Given the description of an element on the screen output the (x, y) to click on. 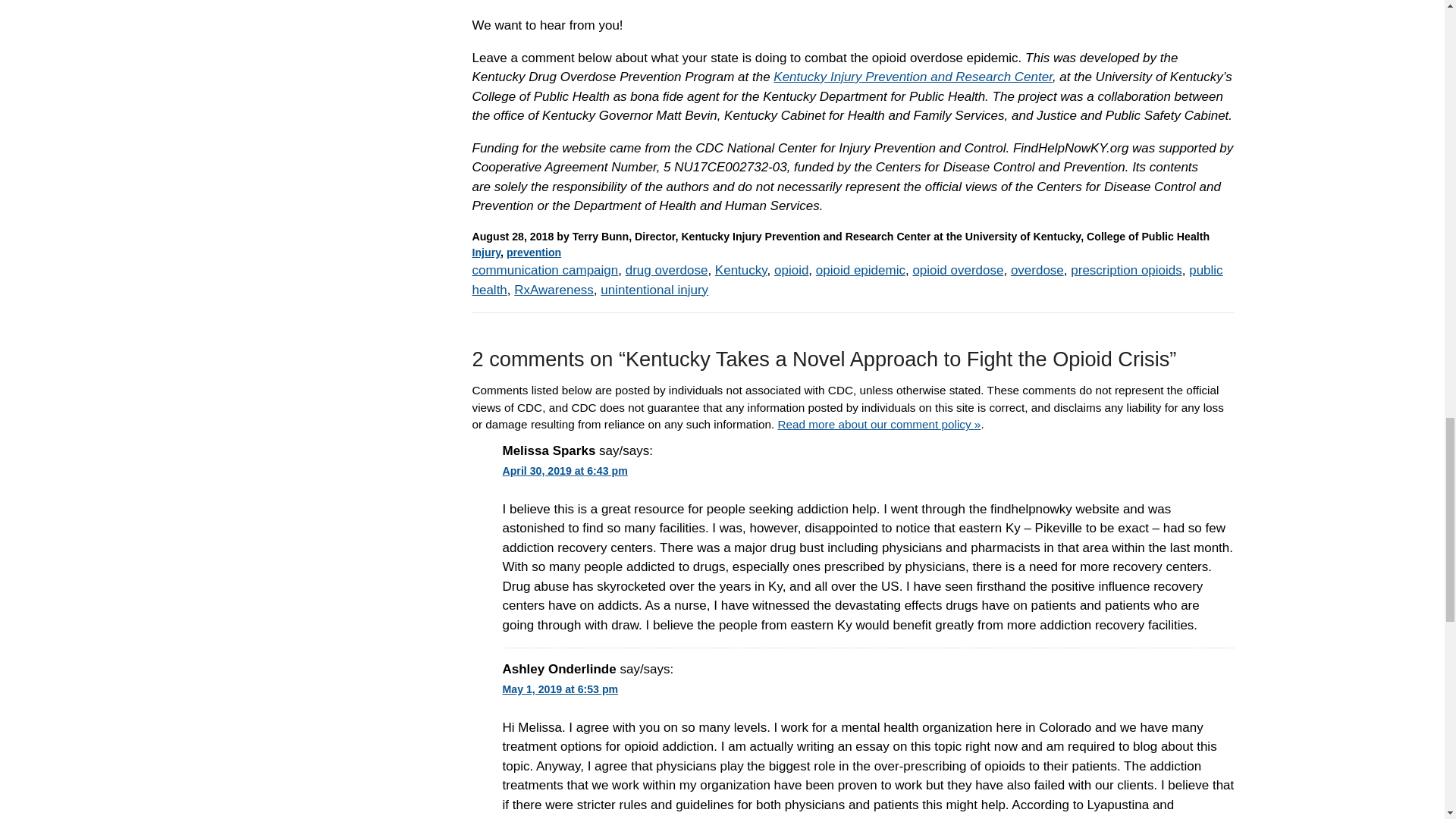
opioid (791, 269)
opioid epidemic (860, 269)
Kentucky Injury Prevention and Research Center (912, 76)
Injury (485, 252)
prevention (533, 252)
Kentucky (740, 269)
prescription opioids (1125, 269)
overdose (1037, 269)
opioid overdose (957, 269)
drug overdose (666, 269)
communication campaign (544, 269)
